Given the description of an element on the screen output the (x, y) to click on. 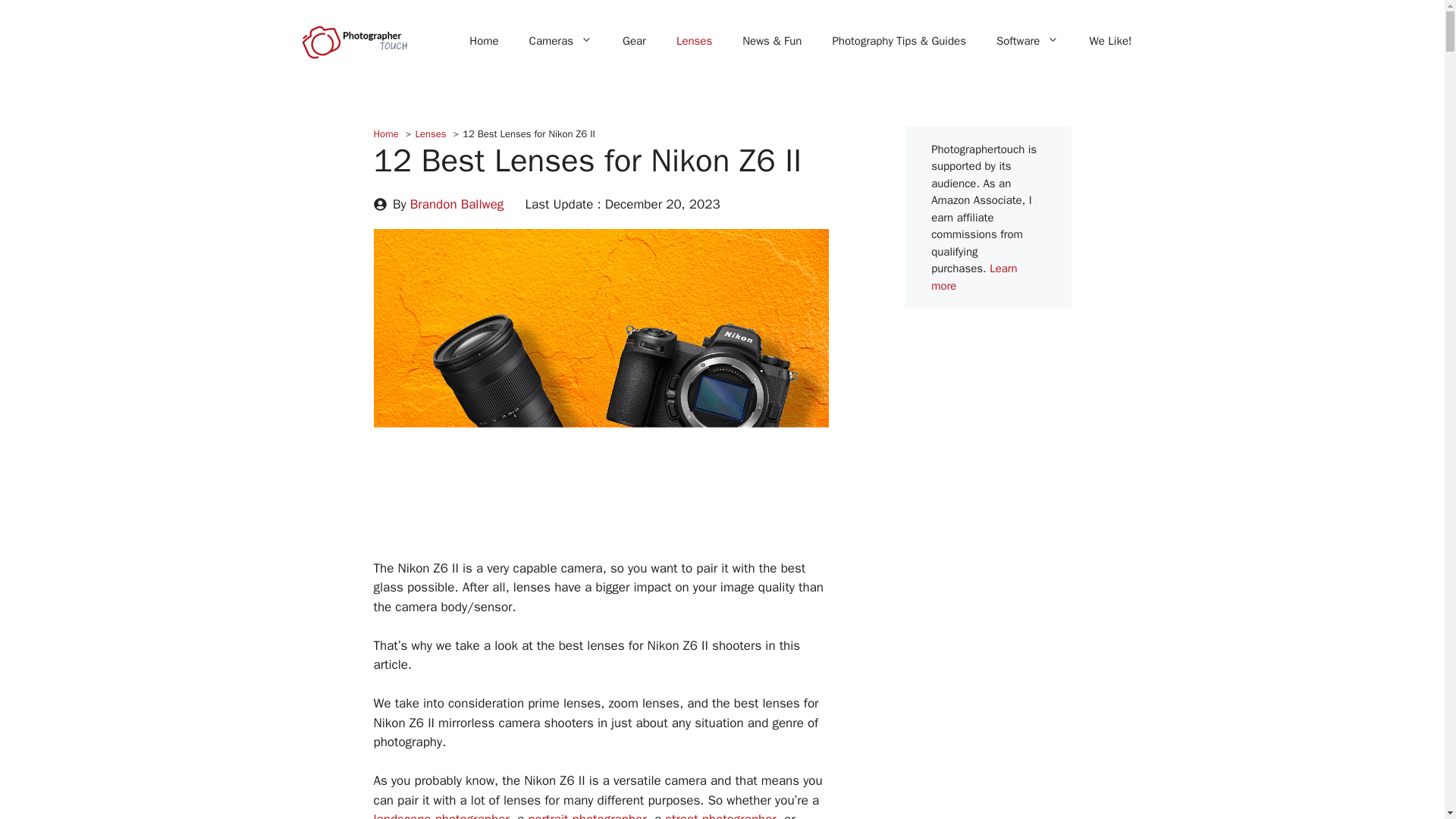
We Like! (1110, 40)
Home (384, 133)
Gear (634, 40)
Cameras (560, 40)
Home (483, 40)
Software (1027, 40)
Brandon Ballweg (456, 204)
Lenses (429, 133)
Lenses (693, 40)
